Given the description of an element on the screen output the (x, y) to click on. 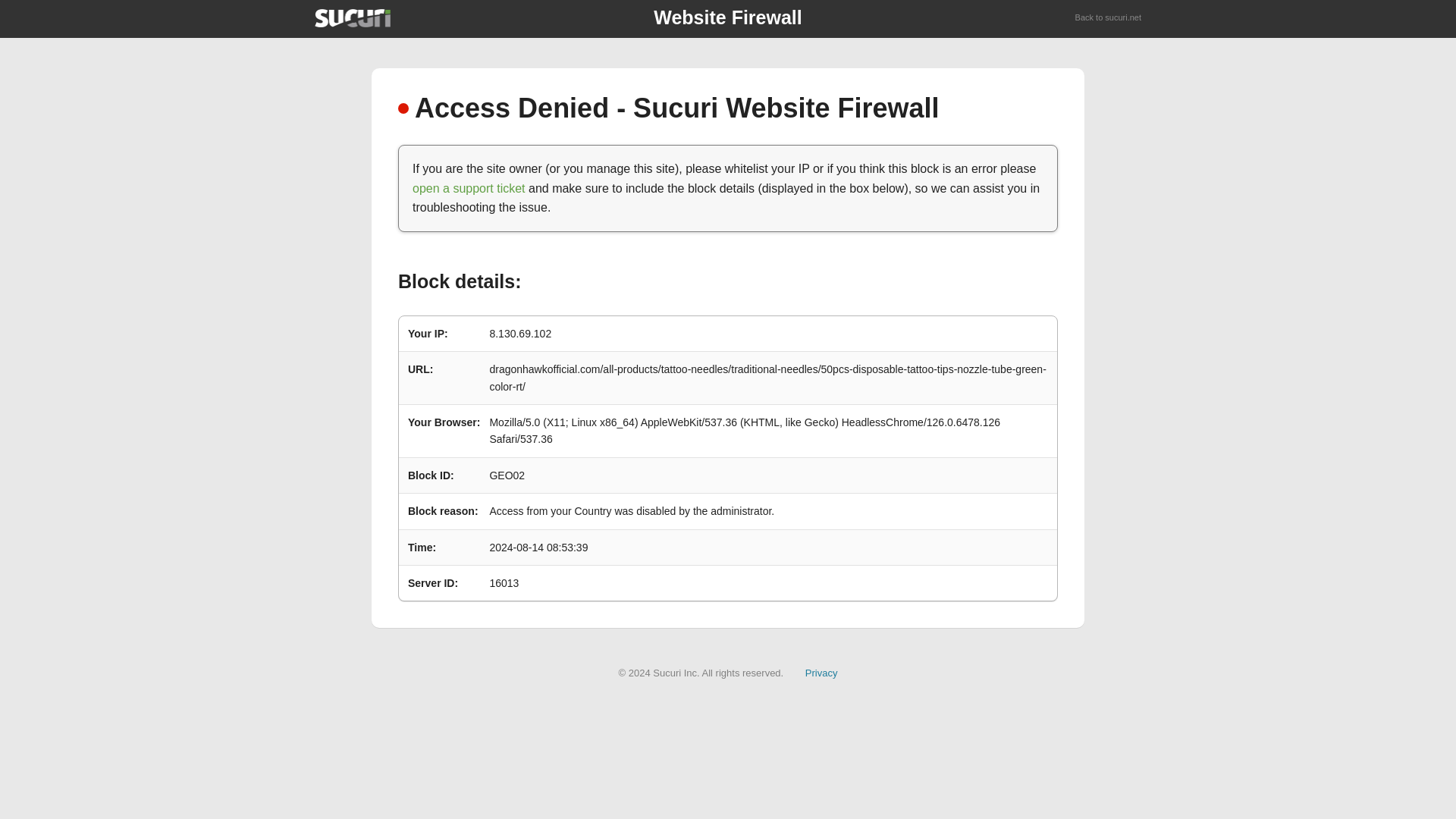
Back to sucuri.net (1108, 18)
Privacy (821, 672)
open a support ticket (468, 187)
